Given the description of an element on the screen output the (x, y) to click on. 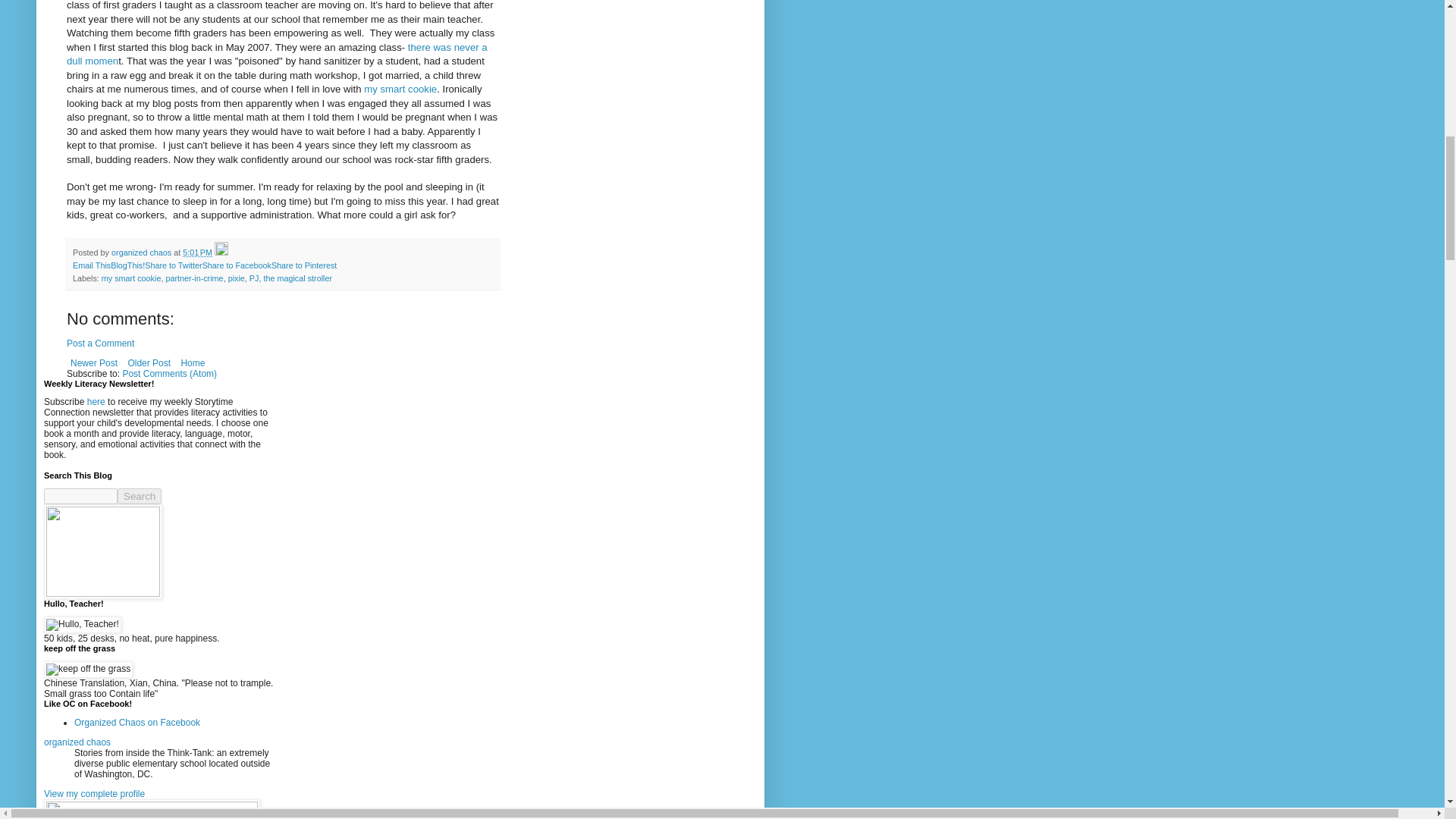
Email This (91, 265)
here (95, 401)
there was never a dull momen (276, 53)
pixie (236, 277)
Share to Twitter (173, 265)
Search (139, 496)
BlogThis! (127, 265)
Newer Post (93, 362)
Newer Post (93, 362)
BlogThis! (127, 265)
Share to Pinterest (303, 265)
Search (139, 496)
author profile (142, 252)
search (139, 496)
Home (192, 362)
